Given the description of an element on the screen output the (x, y) to click on. 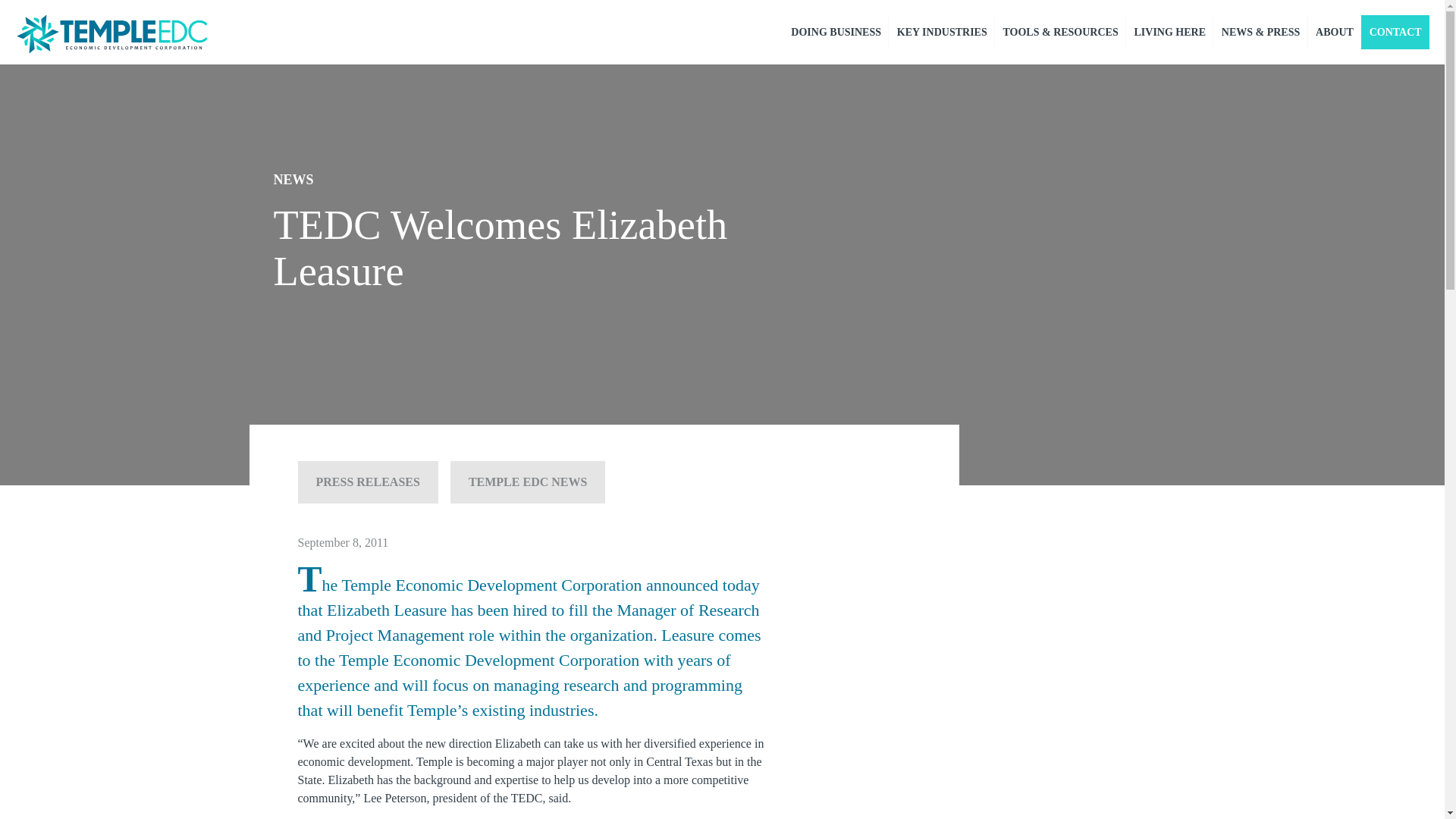
DOING BUSINESS (835, 32)
KEY INDUSTRIES (941, 32)
CONTACT (1395, 32)
TEMPLE EDC NEWS (527, 482)
PRESS RELEASES (367, 482)
LIVING HERE (1168, 32)
